Given the description of an element on the screen output the (x, y) to click on. 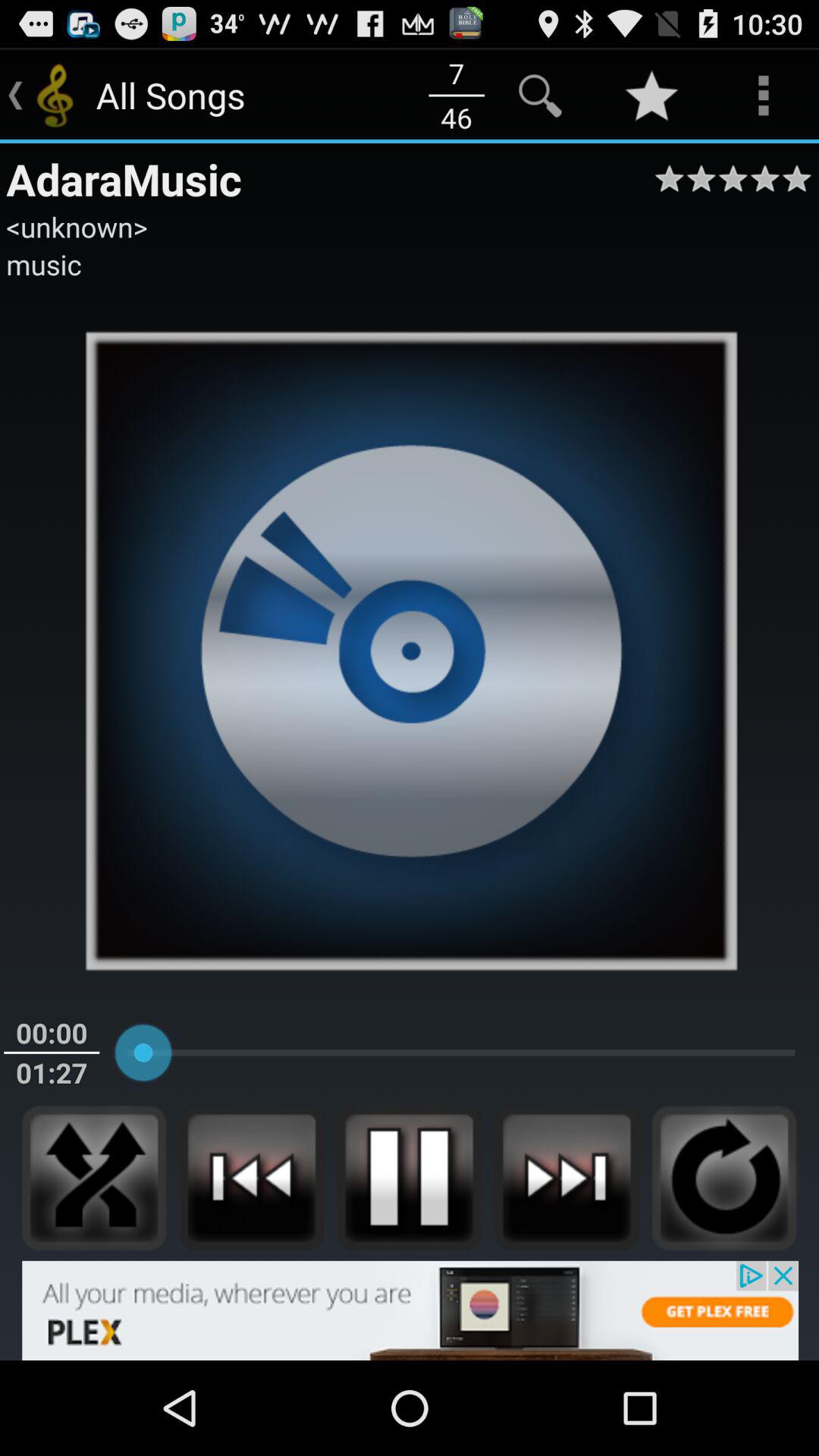
next music (566, 1177)
